Given the description of an element on the screen output the (x, y) to click on. 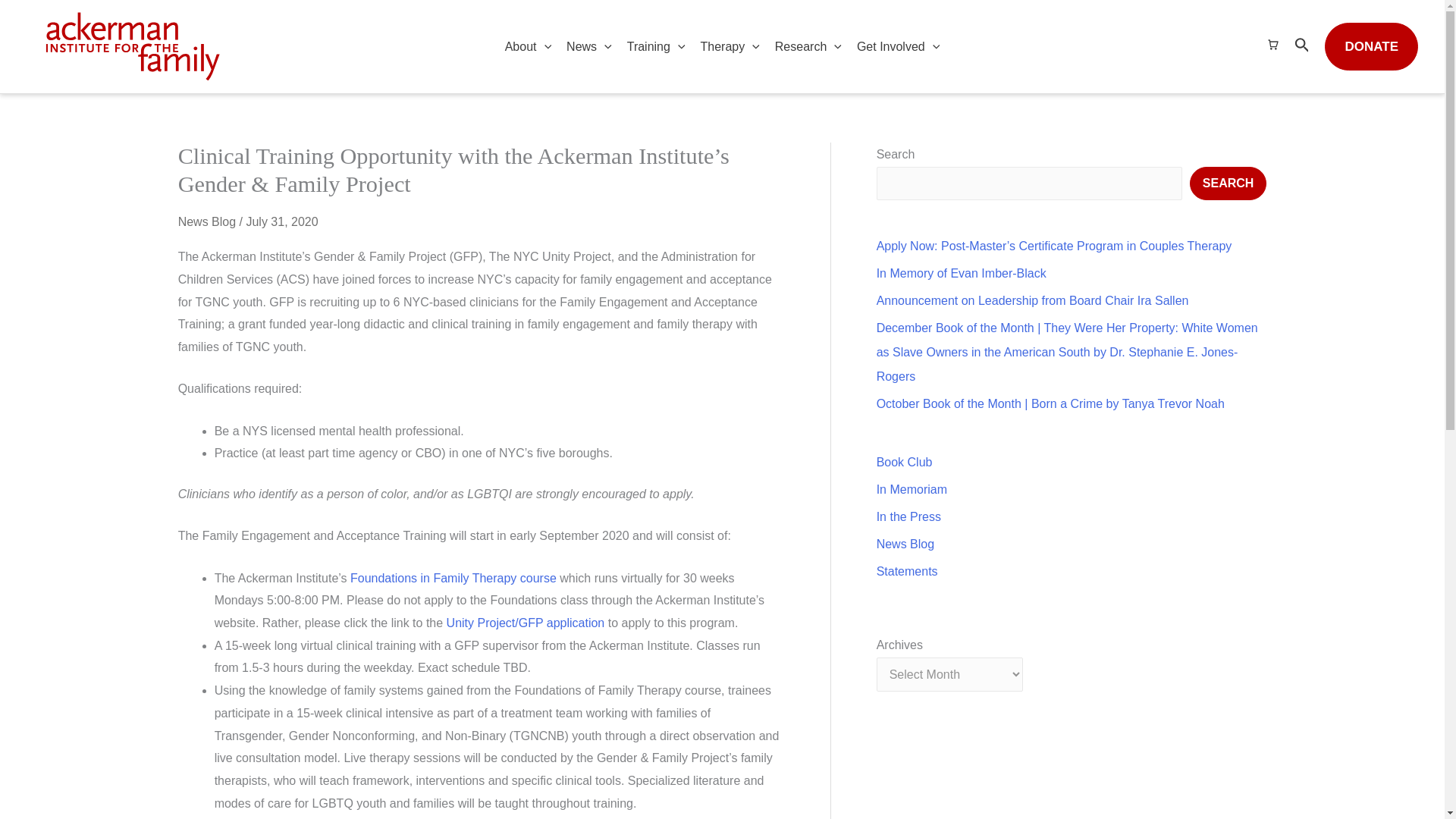
Therapy (730, 46)
Training (656, 46)
About (528, 46)
News (589, 46)
